Given the description of an element on the screen output the (x, y) to click on. 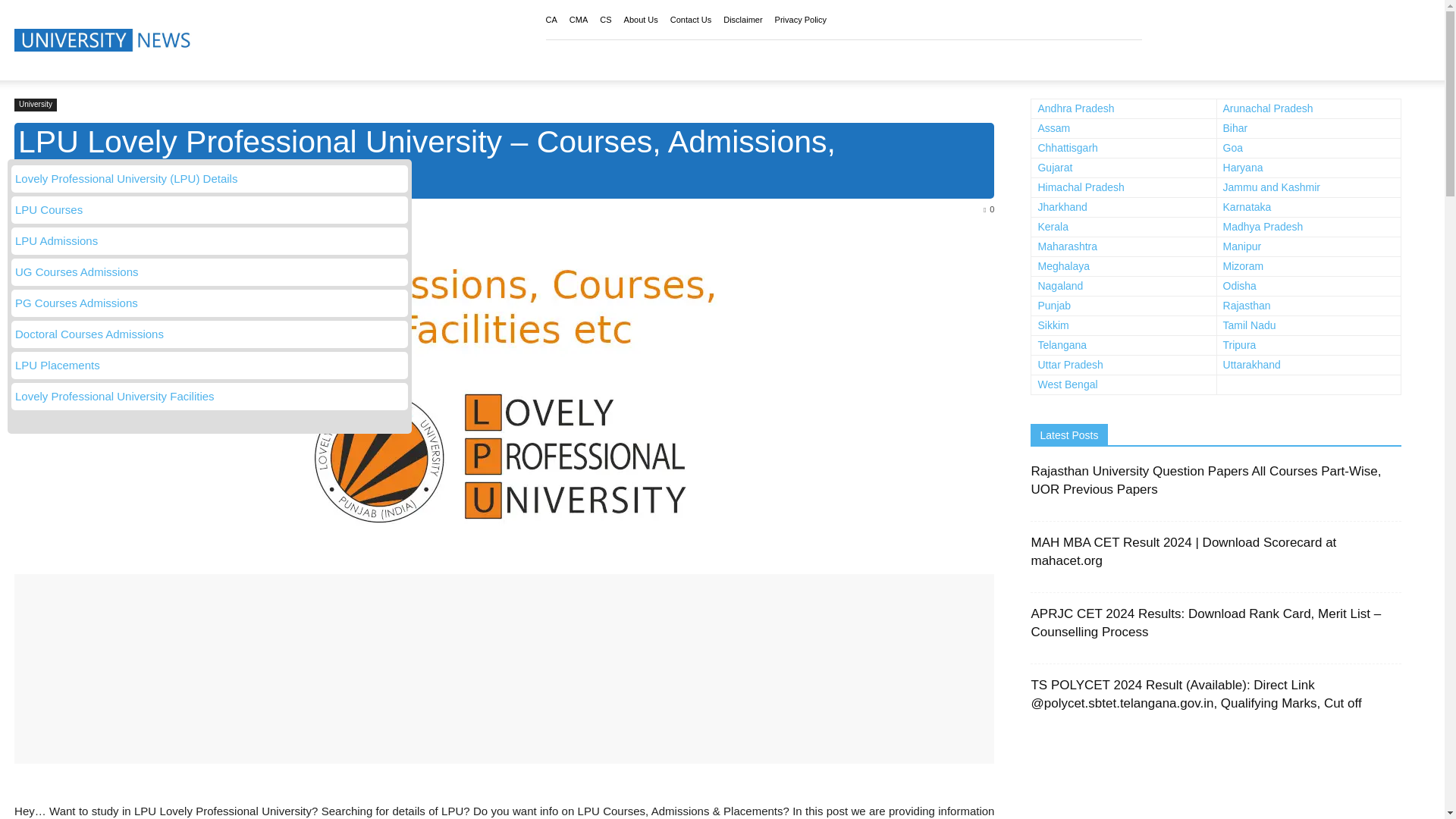
CMA (578, 19)
About Us (641, 19)
CA (551, 19)
University News (104, 39)
BOOKS (613, 60)
Contact Us (690, 19)
Disclaimer (742, 19)
PREPARATION (699, 60)
CS (605, 19)
